Given the description of an element on the screen output the (x, y) to click on. 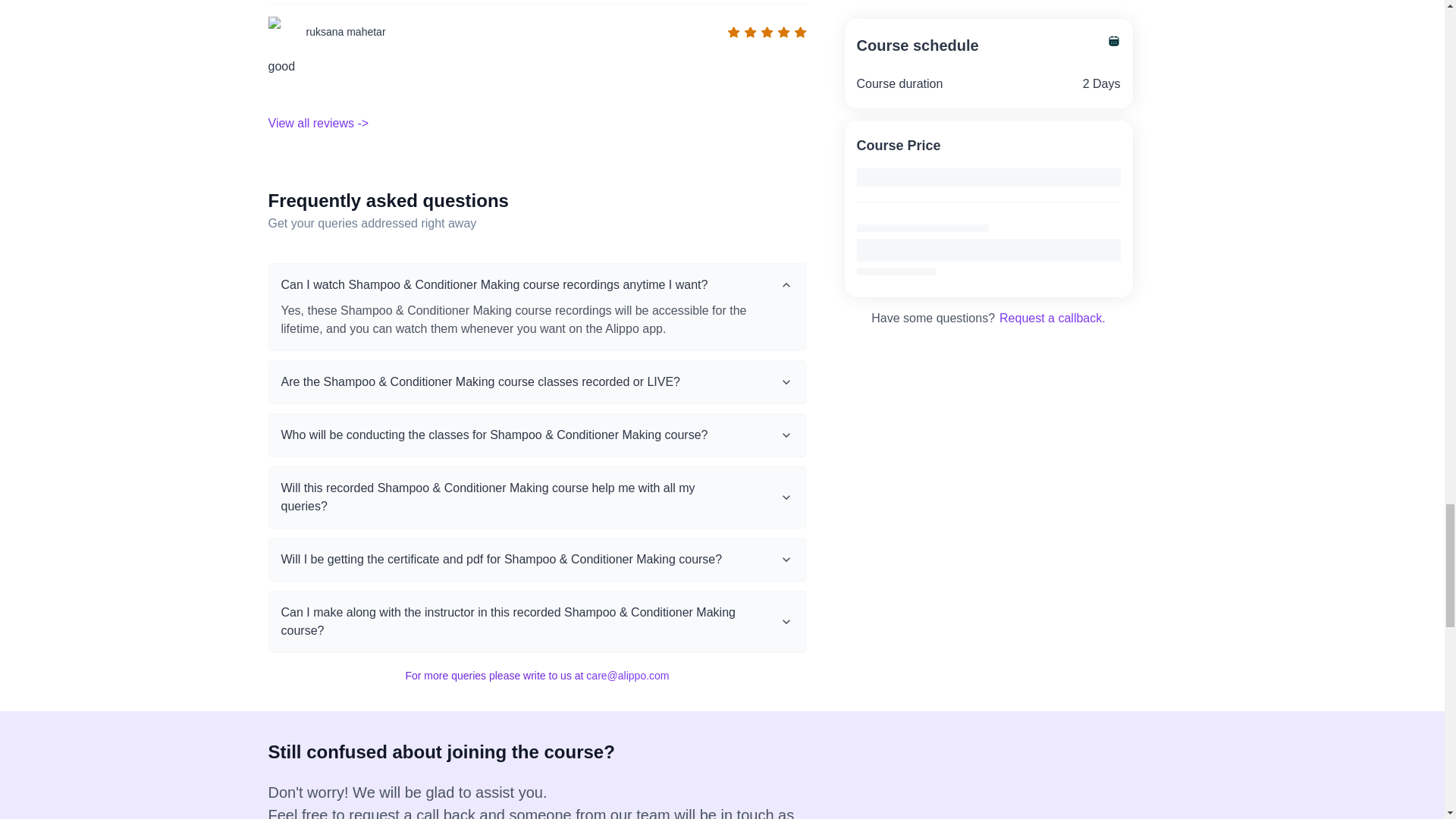
View All Reviews (318, 123)
